Given the description of an element on the screen output the (x, y) to click on. 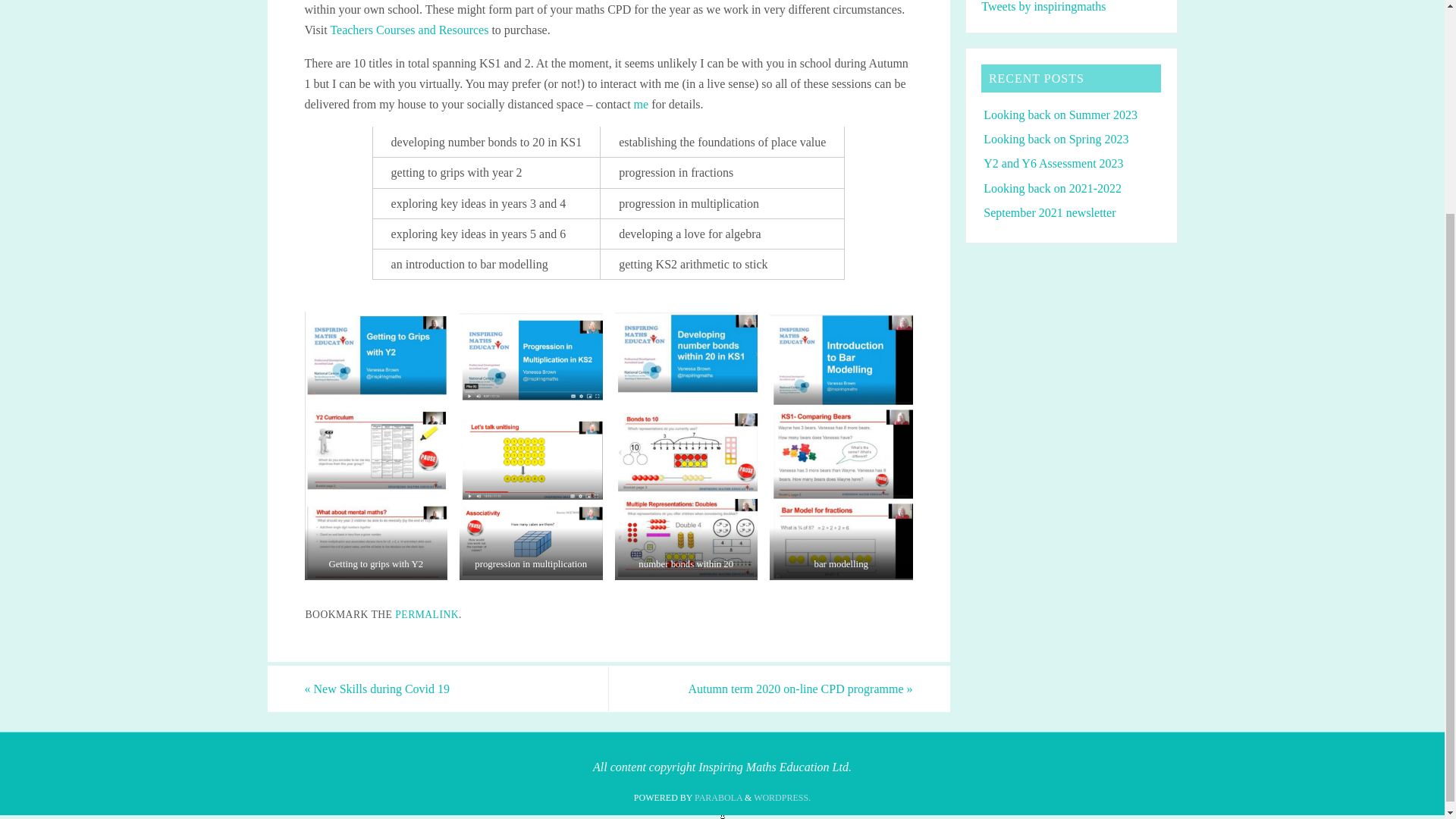
me (641, 103)
PARABOLA (718, 797)
Parabola Theme by Cryout Creations (718, 797)
September 2021 newsletter (1049, 212)
Semantic Personal Publishing Platform (782, 797)
WORDPRESS. (782, 797)
Looking back on Spring 2023 (1056, 138)
Looking back on 2021-2022 (1052, 187)
PERMALINK (426, 614)
Looking back on Summer 2023 (1060, 114)
Y2 and Y6 Assessment 2023 (1053, 163)
Teachers Courses and Resources (408, 29)
Tweets by inspiringmaths (1043, 6)
Permalink to CPD for you at home (426, 614)
